Given the description of an element on the screen output the (x, y) to click on. 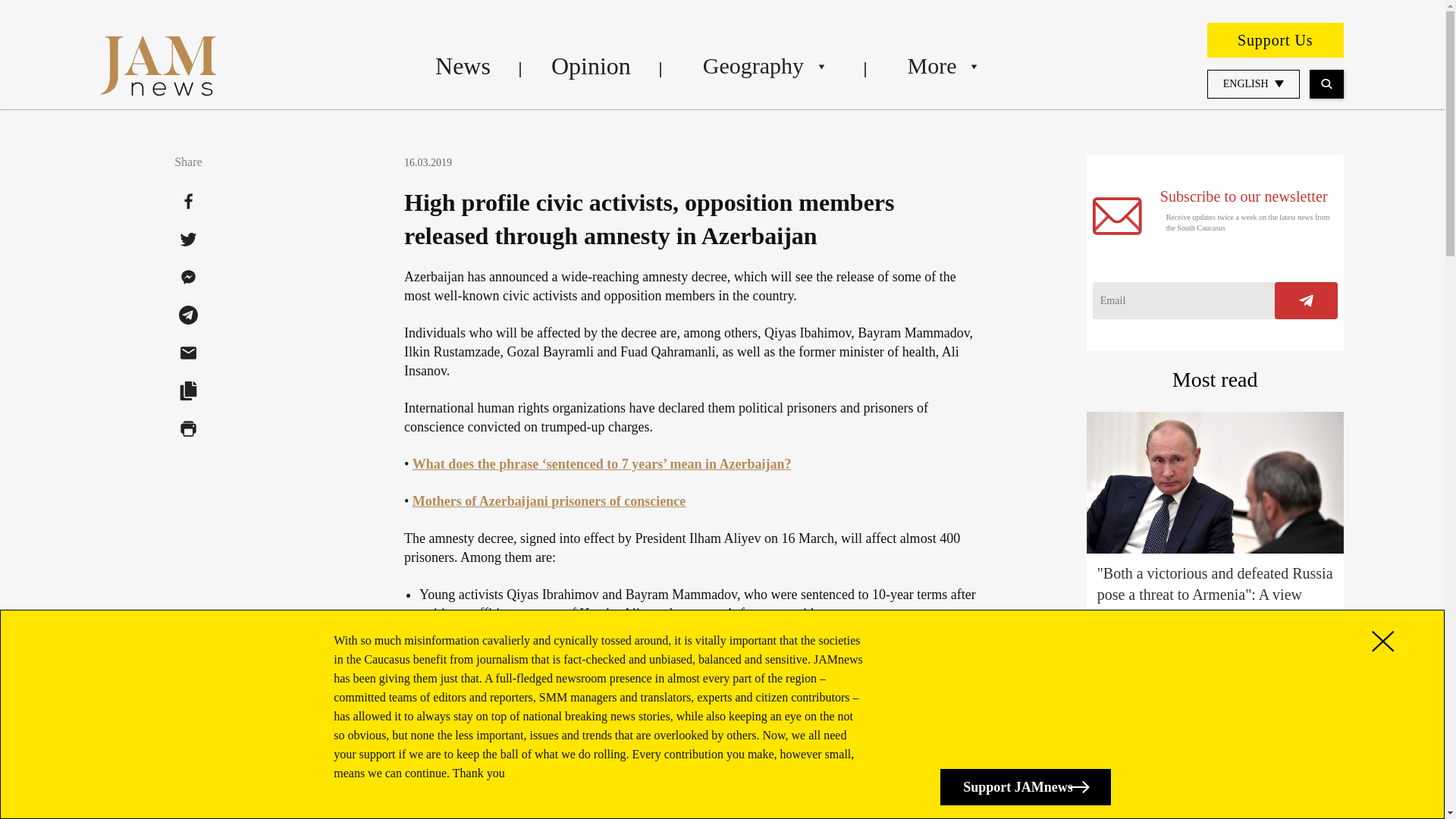
Geography (763, 65)
Opinion (591, 65)
More (942, 65)
News (462, 65)
Support Us (1275, 39)
